Given the description of an element on the screen output the (x, y) to click on. 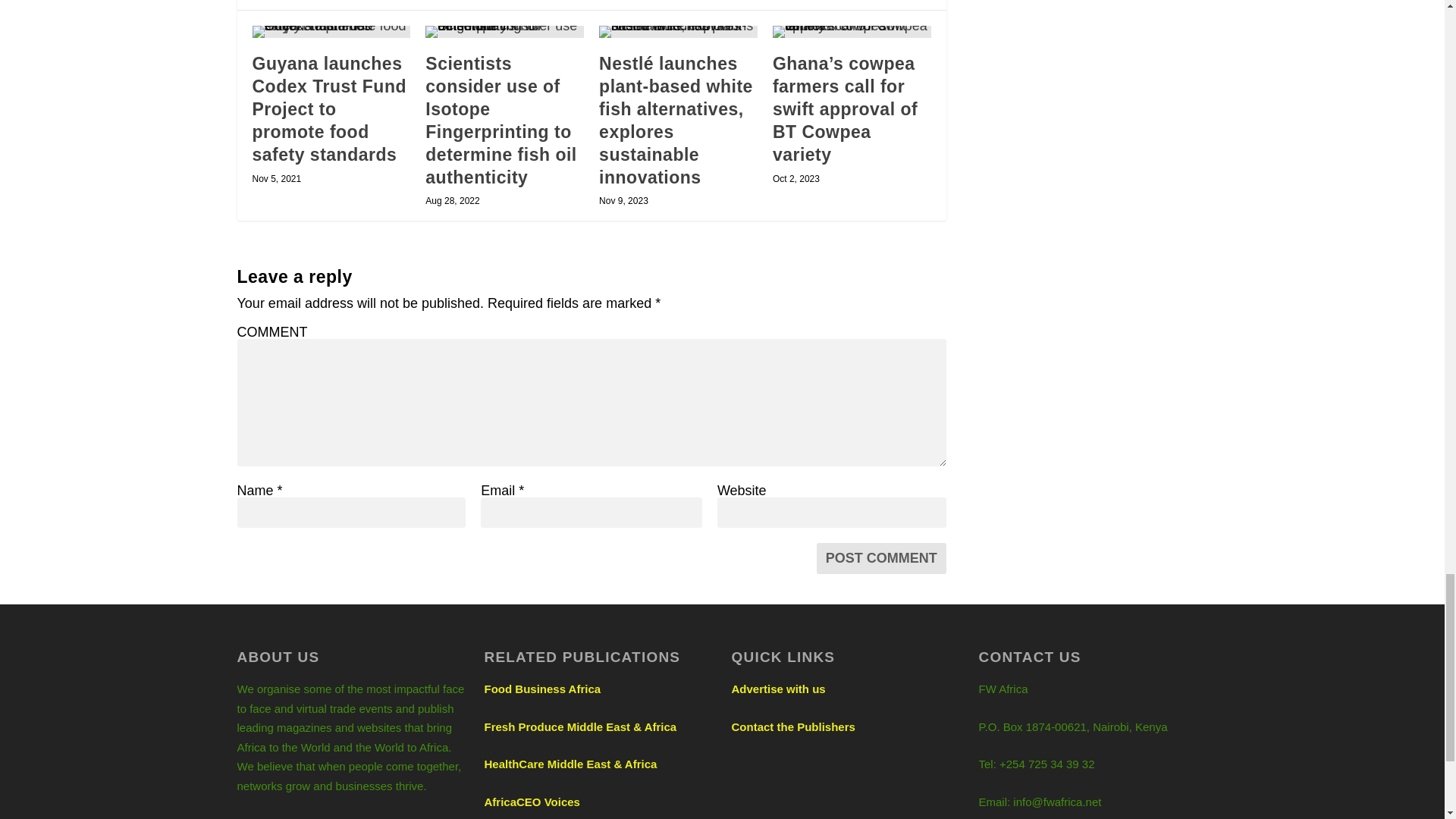
Post Comment (881, 558)
